Given the description of an element on the screen output the (x, y) to click on. 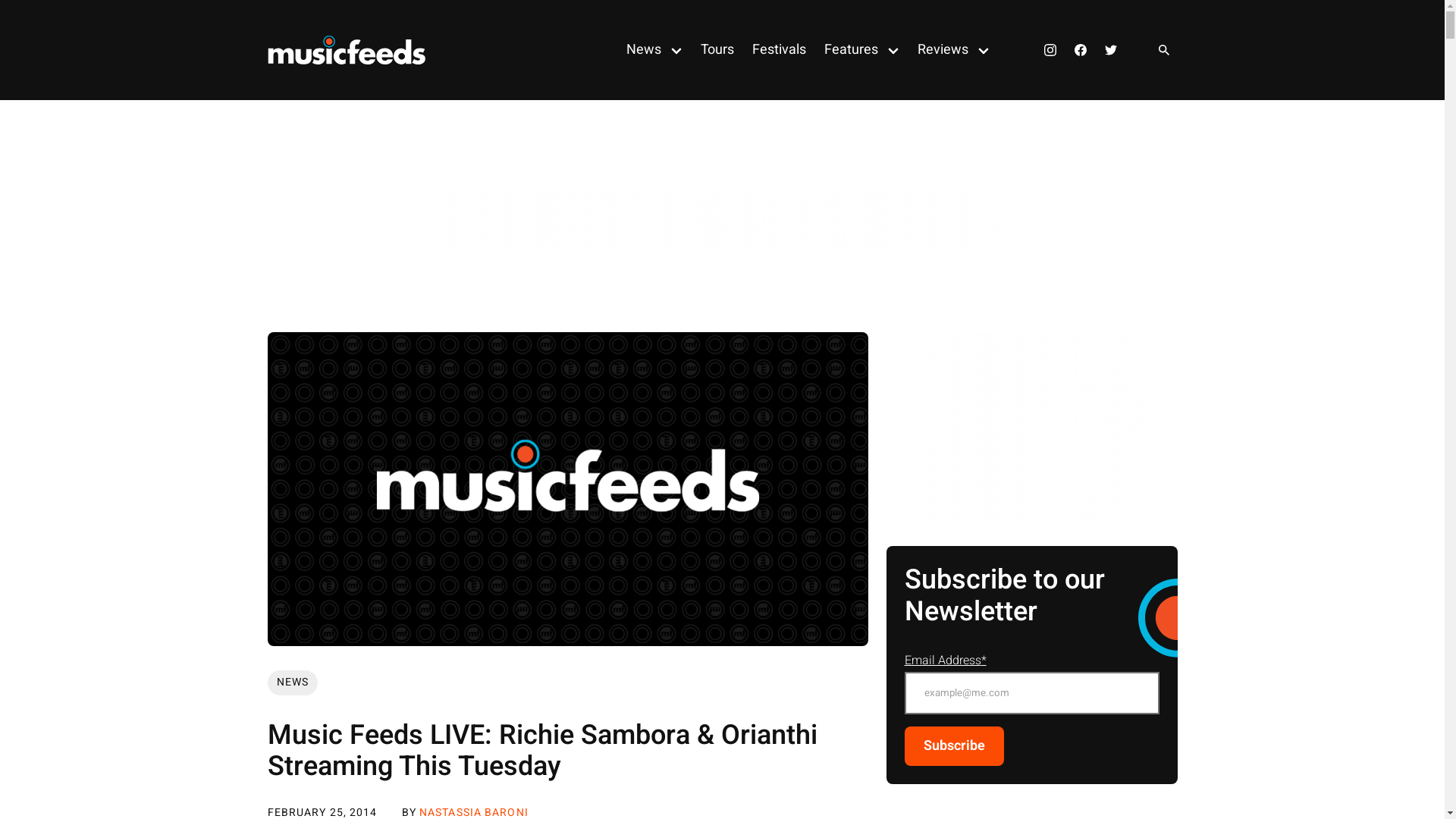
NEWS Element type: text (291, 682)
Twitter Element type: text (1110, 49)
Open menu Element type: text (982, 49)
Subscribe Element type: text (953, 745)
Reviews Element type: text (938, 49)
Open menu Element type: text (893, 49)
Facebook Element type: text (1079, 49)
Tours Element type: text (717, 49)
3rd party ad content Element type: hover (1031, 426)
3rd party ad content Element type: hover (721, 219)
Open menu Element type: text (676, 49)
Festivals Element type: text (779, 49)
Features Element type: text (845, 49)
Instagram Element type: text (1049, 49)
News Element type: text (639, 49)
